Given the description of an element on the screen output the (x, y) to click on. 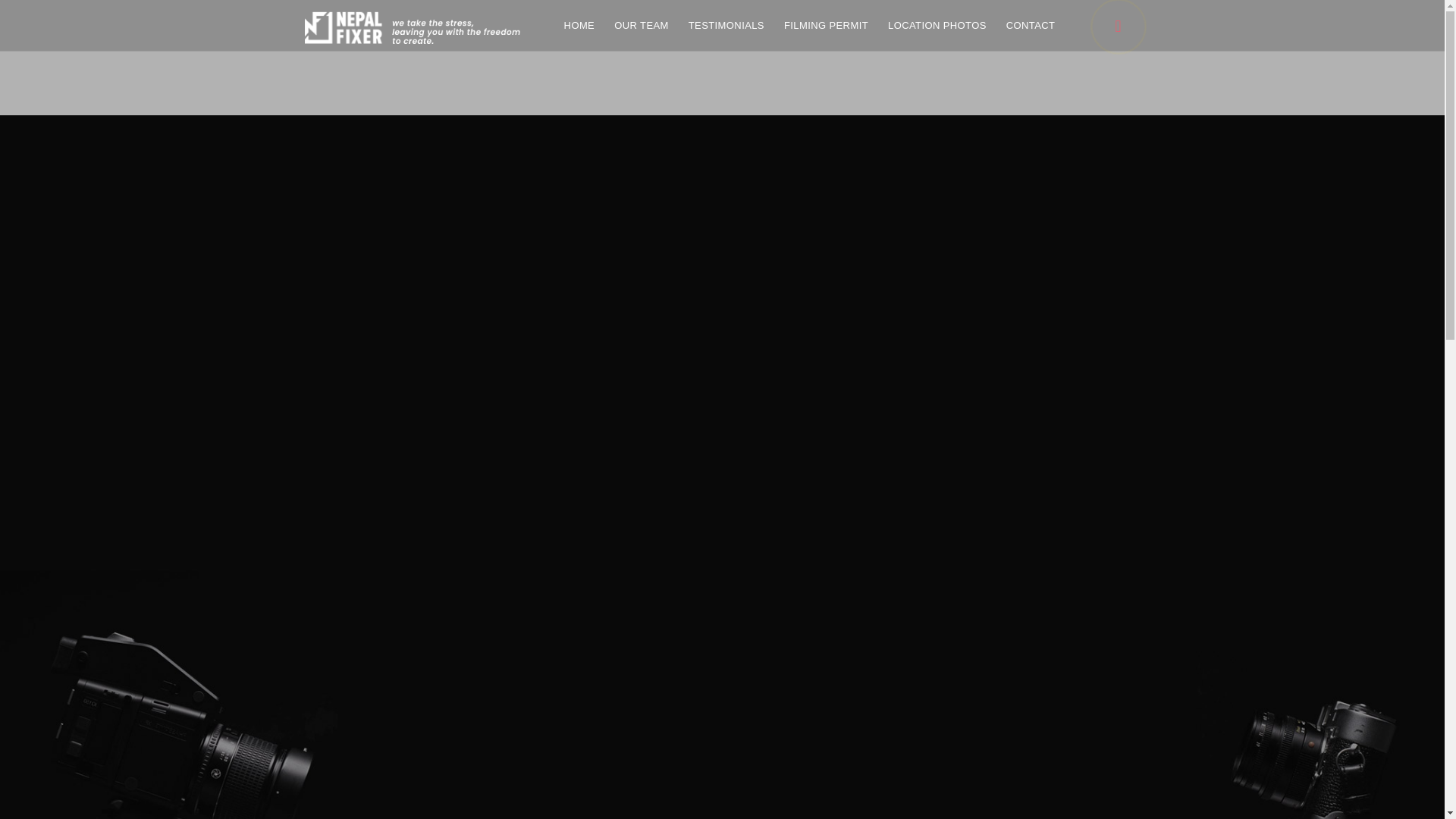
Location Photos (937, 31)
LOCATION PHOTOS (937, 31)
Testimonials (726, 31)
TESTIMONIALS (726, 31)
Filming Permit (825, 31)
FILMING PERMIT (825, 31)
